Given the description of an element on the screen output the (x, y) to click on. 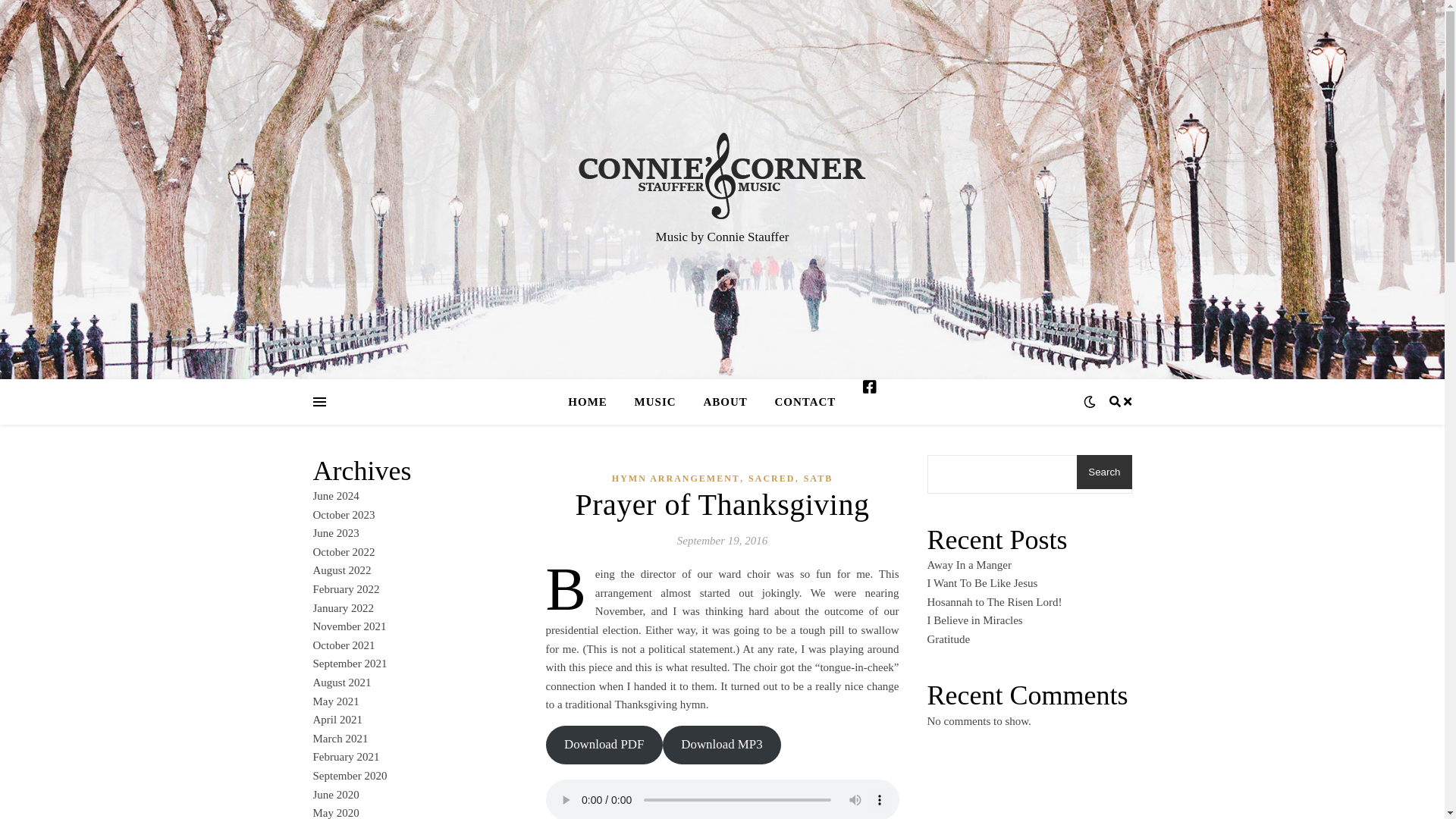
May 2020 (335, 812)
October 2021 (343, 645)
CONTACT (804, 402)
October 2022 (343, 551)
February 2021 (345, 756)
ABOUT (724, 402)
September 2021 (350, 663)
February 2022 (345, 589)
June 2024 (335, 495)
January 2022 (342, 607)
MUSIC (655, 402)
May 2021 (335, 701)
September 2020 (350, 775)
August 2021 (342, 682)
April 2021 (337, 719)
